Given the description of an element on the screen output the (x, y) to click on. 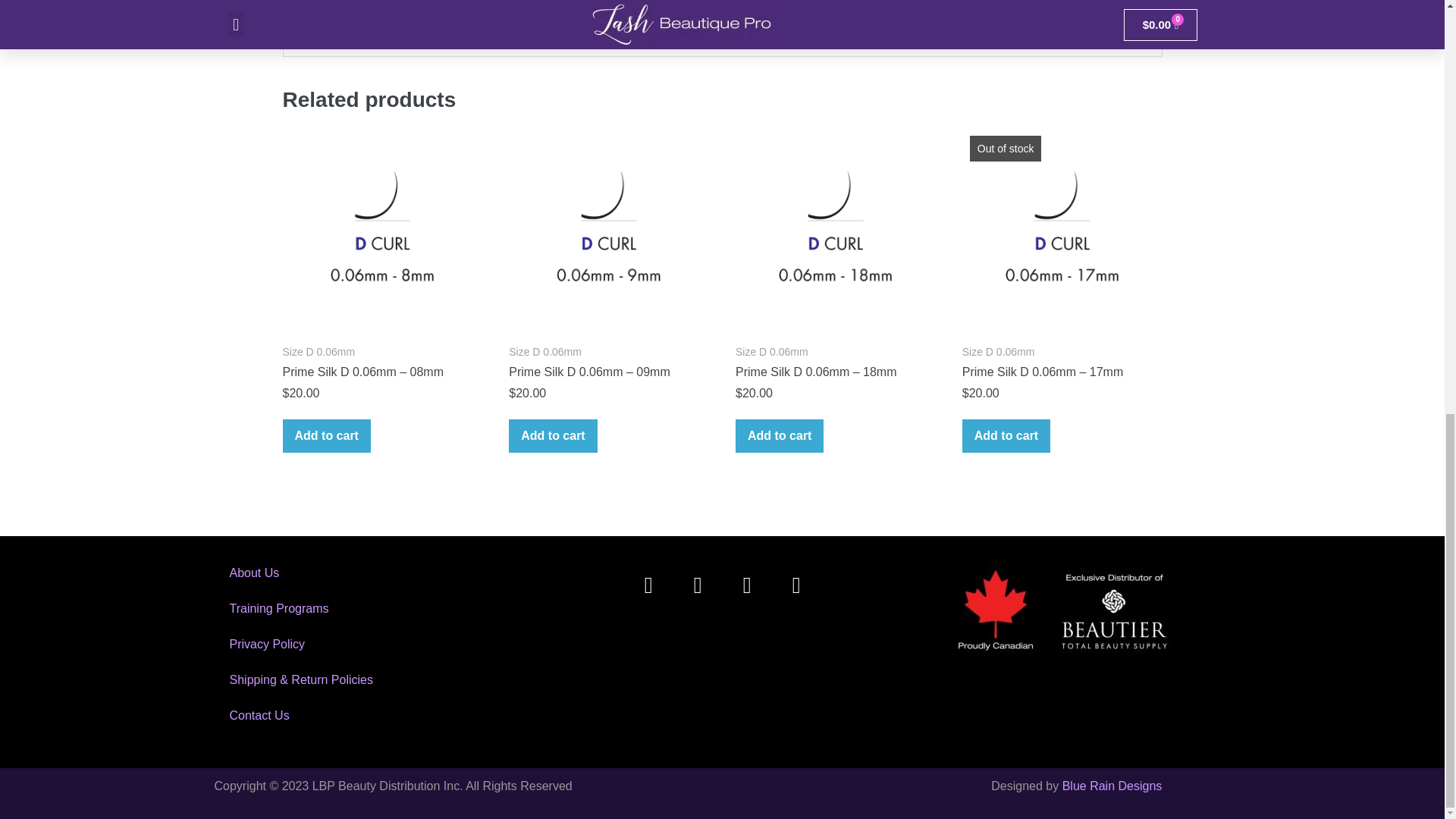
proudly-canadian-black-b (1065, 611)
